Given the description of an element on the screen output the (x, y) to click on. 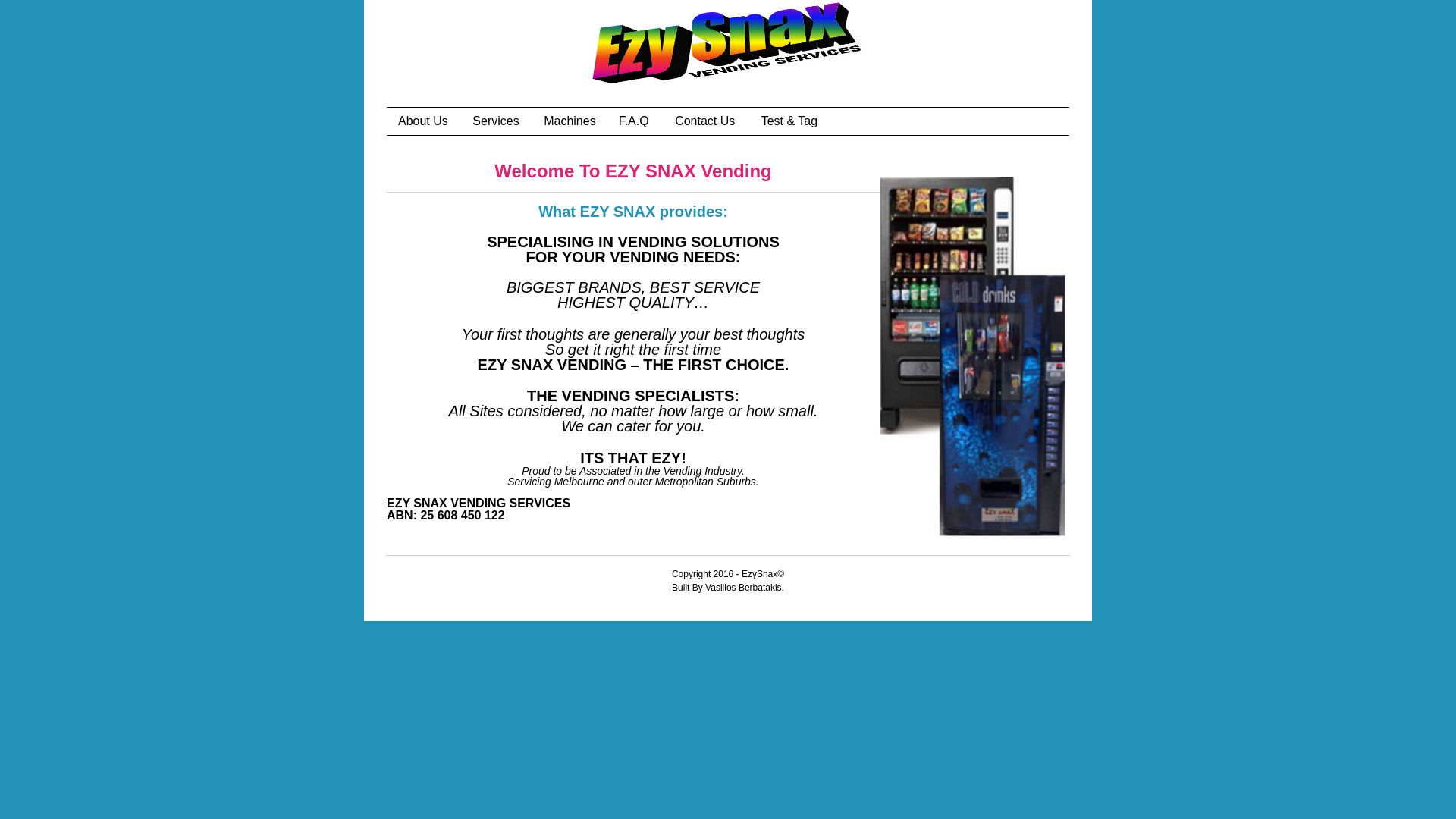
F.A.Q Element type: text (633, 120)
Contact Us Element type: text (704, 120)
Services Element type: text (495, 120)
Machines Element type: text (569, 120)
About Us Element type: text (422, 120)
Test & Tag Element type: text (788, 120)
